Given the description of an element on the screen output the (x, y) to click on. 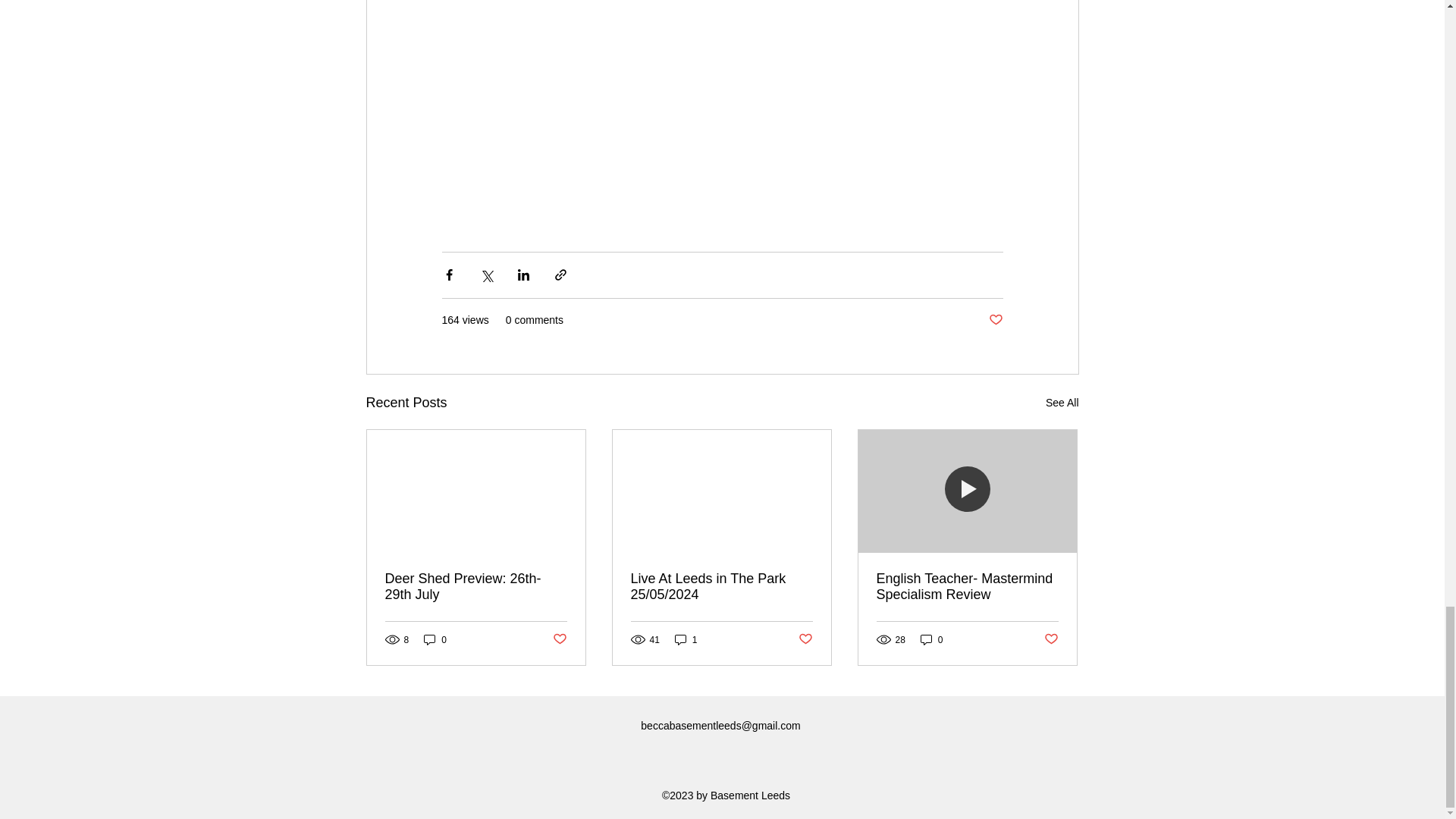
Post not marked as liked (804, 639)
0 (435, 639)
1 (685, 639)
Deer Shed Preview: 26th-29th July (476, 586)
Post not marked as liked (1050, 639)
Post not marked as liked (558, 639)
0 (931, 639)
English Teacher- Mastermind Specialism Review (967, 586)
See All (1061, 403)
Post not marked as liked (995, 319)
